Given the description of an element on the screen output the (x, y) to click on. 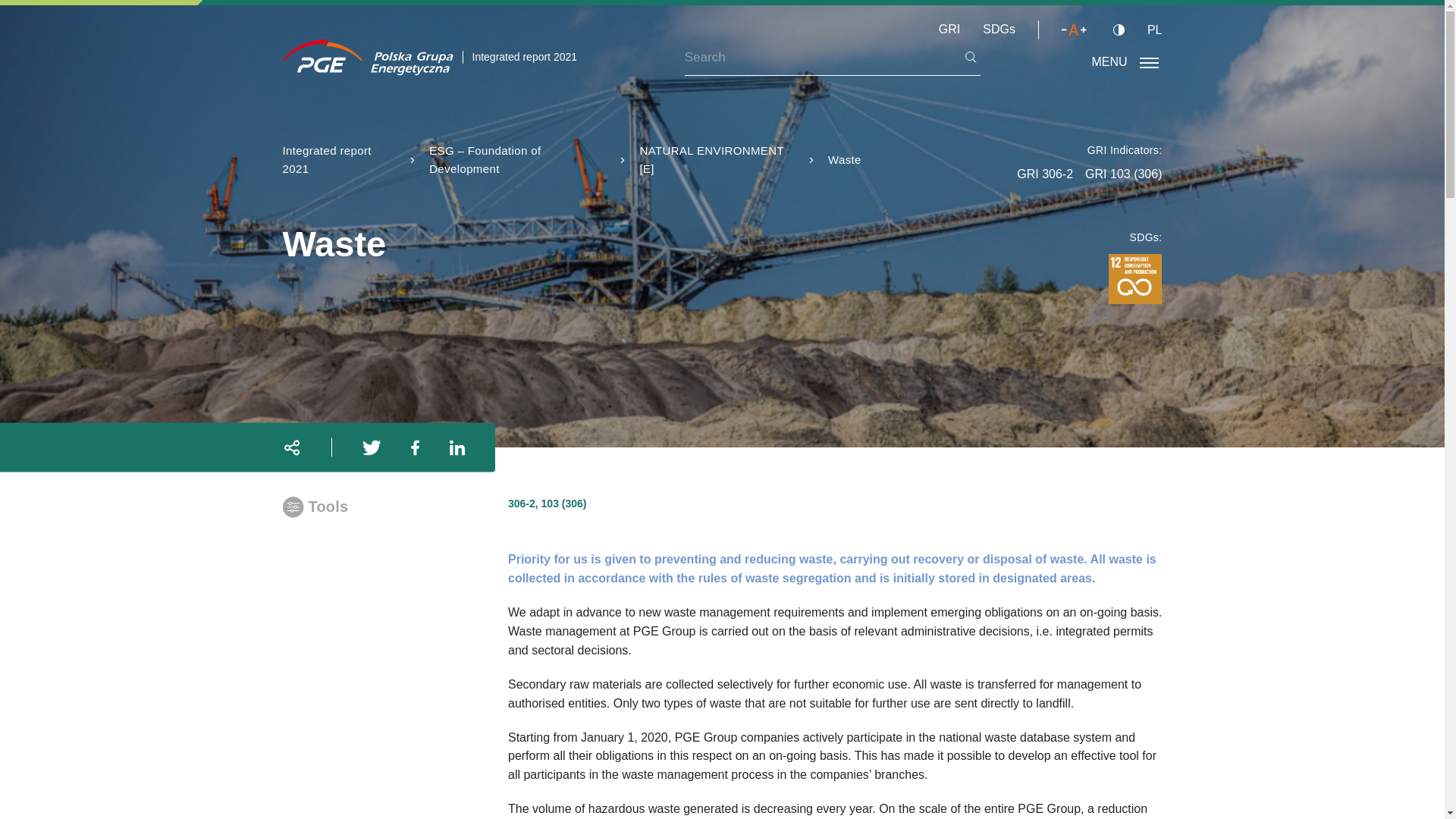
MENU (1124, 62)
SDGs (998, 29)
PL (1154, 30)
GRI (949, 29)
GRI 306-2 (1044, 173)
